Given the description of an element on the screen output the (x, y) to click on. 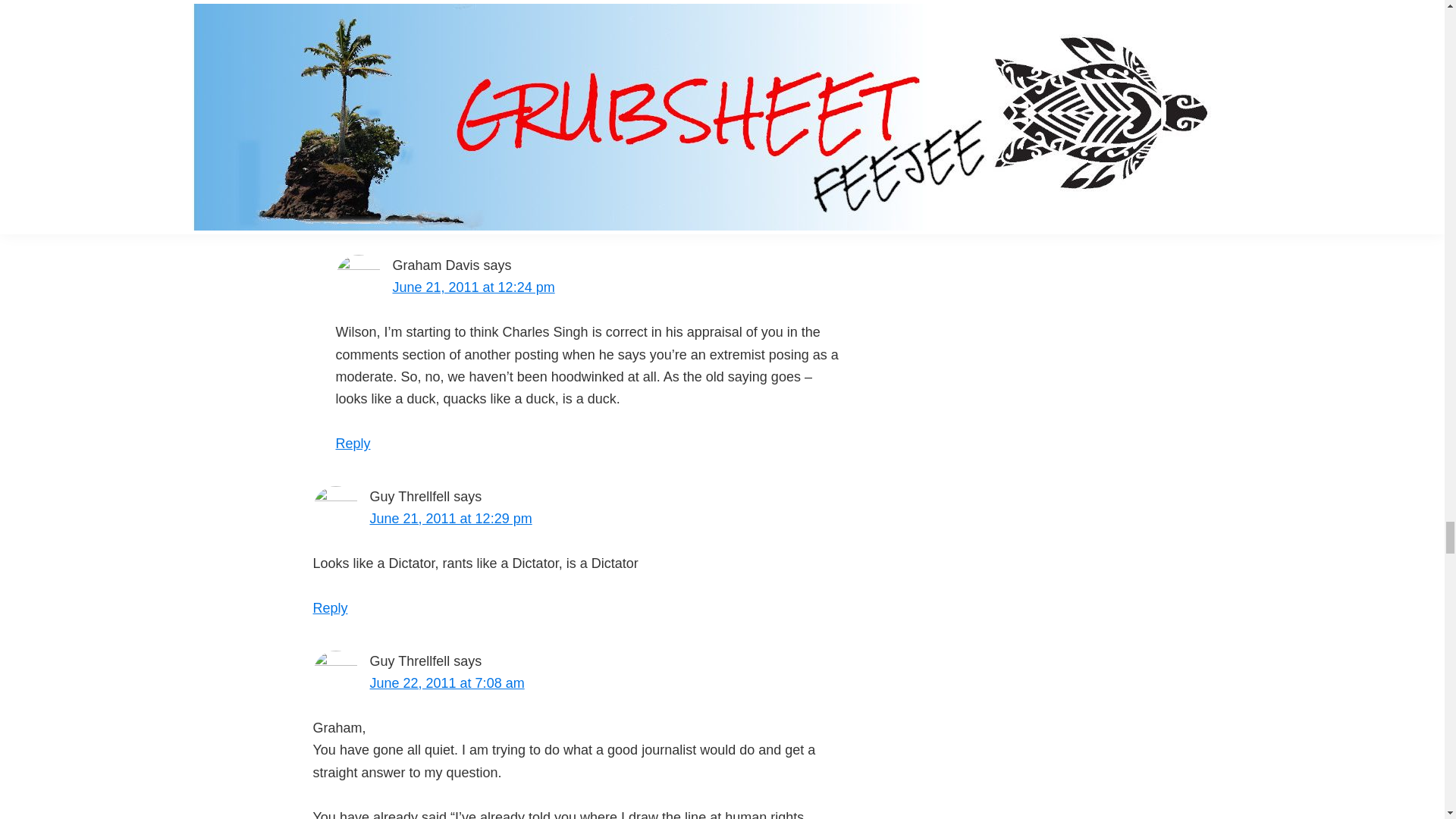
Reply (330, 212)
June 21, 2011 at 12:24 pm (473, 287)
